Given the description of an element on the screen output the (x, y) to click on. 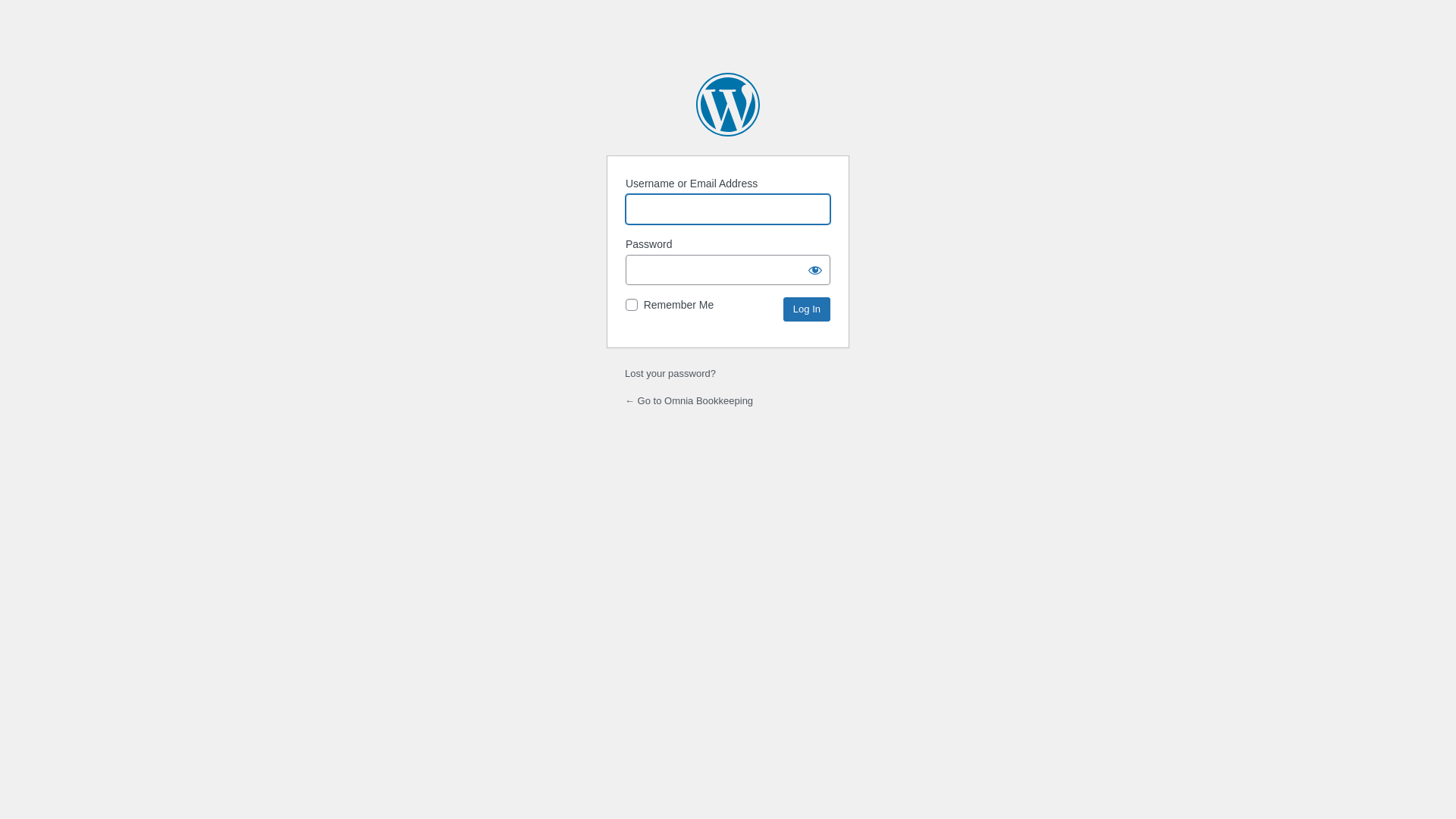
Log In Element type: text (806, 309)
Powered by WordPress Element type: text (727, 104)
Lost your password? Element type: text (669, 373)
